Given the description of an element on the screen output the (x, y) to click on. 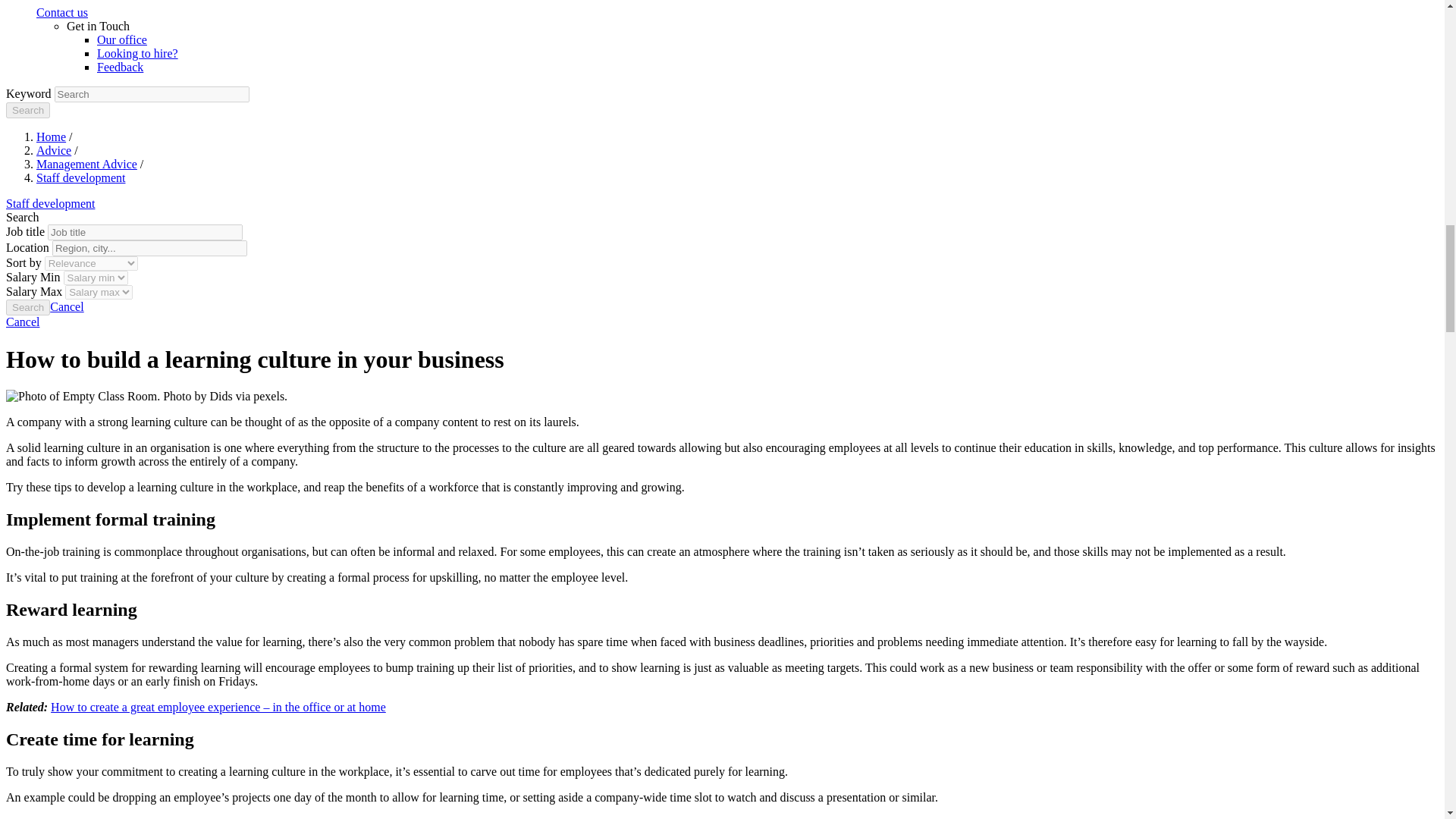
Search (27, 109)
Search (27, 307)
